Given the description of an element on the screen output the (x, y) to click on. 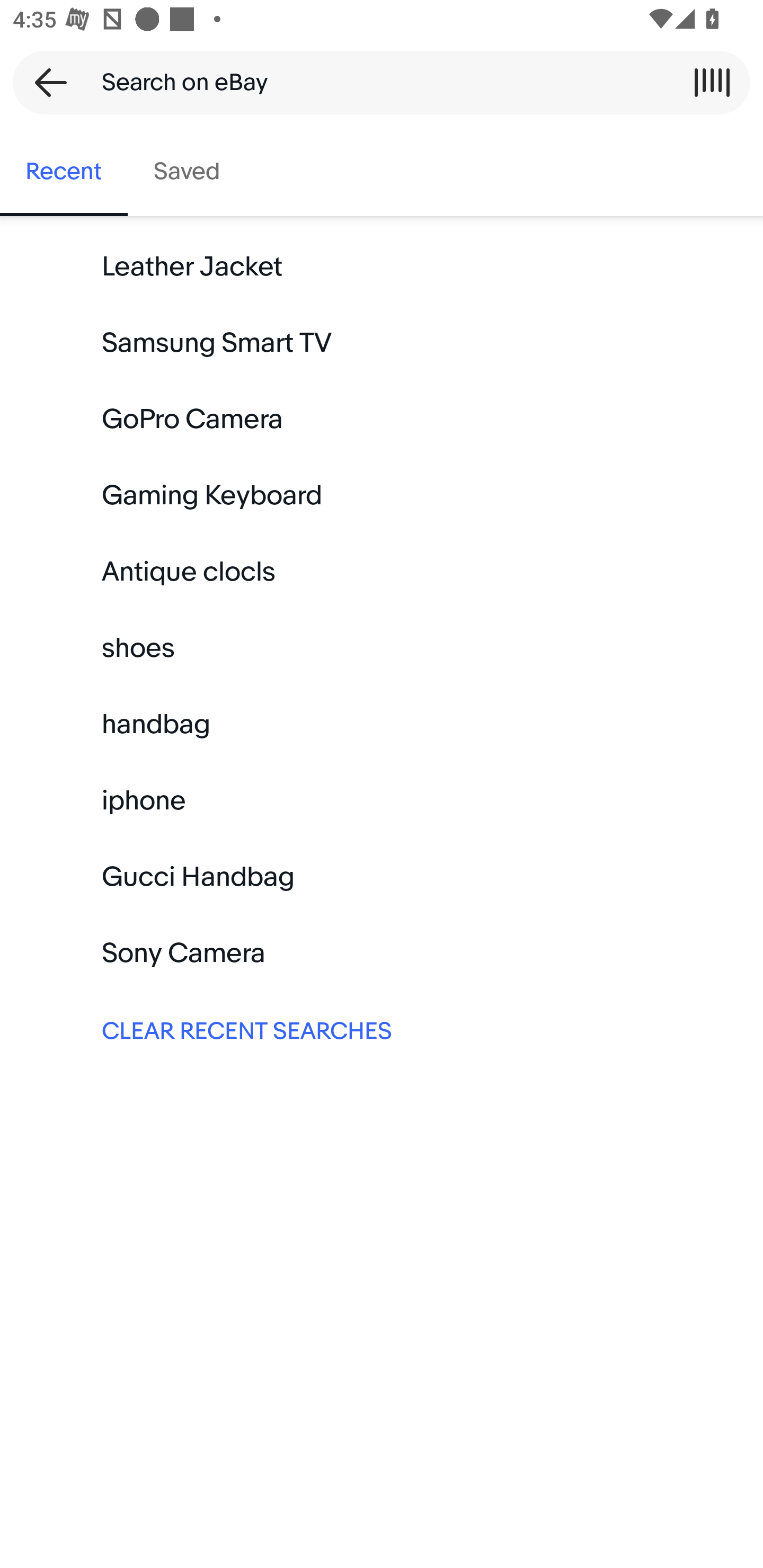
Back (44, 82)
Scan a barcode (711, 82)
Search on eBay (375, 82)
Saved, tab 2 of 2 Saved (186, 171)
Leather Jacket Keyword search Leather Jacket: (381, 266)
Samsung Smart TV Keyword search Samsung Smart TV: (381, 343)
GoPro Camera Keyword search GoPro Camera: (381, 419)
Gaming Keyboard Keyword search Gaming Keyboard: (381, 495)
Antique clocls Keyword search Antique clocls: (381, 571)
shoes Keyword search shoes: (381, 647)
handbag Keyword search handbag: (381, 724)
iphone Keyword search iphone: (381, 800)
Gucci Handbag Keyword search Gucci Handbag: (381, 876)
Sony Camera Keyword search Sony Camera: (381, 952)
CLEAR RECENT SEARCHES (381, 1028)
